Given the description of an element on the screen output the (x, y) to click on. 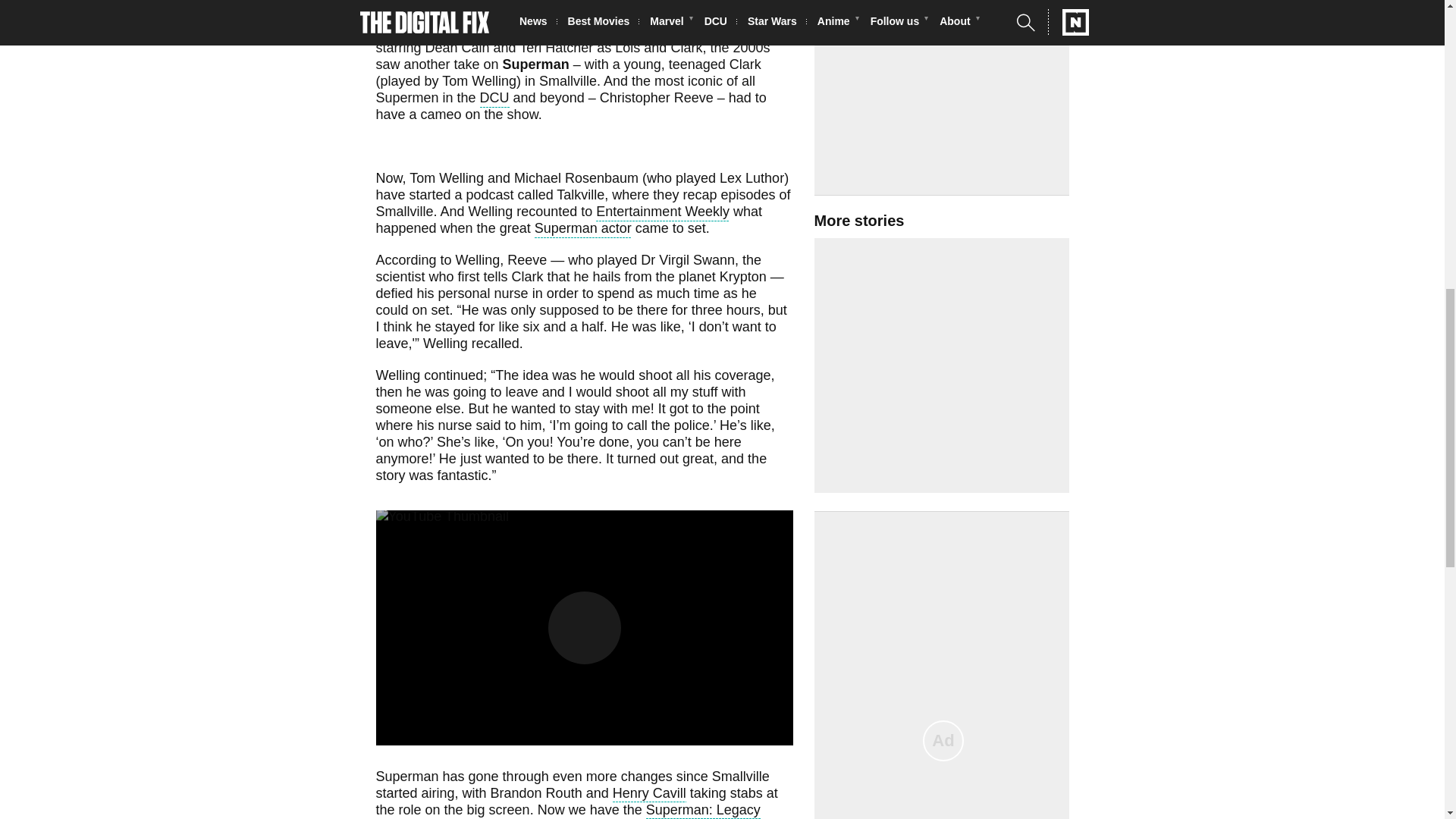
DCU (494, 99)
Superman actor (582, 229)
Superman movies (430, 15)
Entertainment Weekly (662, 212)
